Given the description of an element on the screen output the (x, y) to click on. 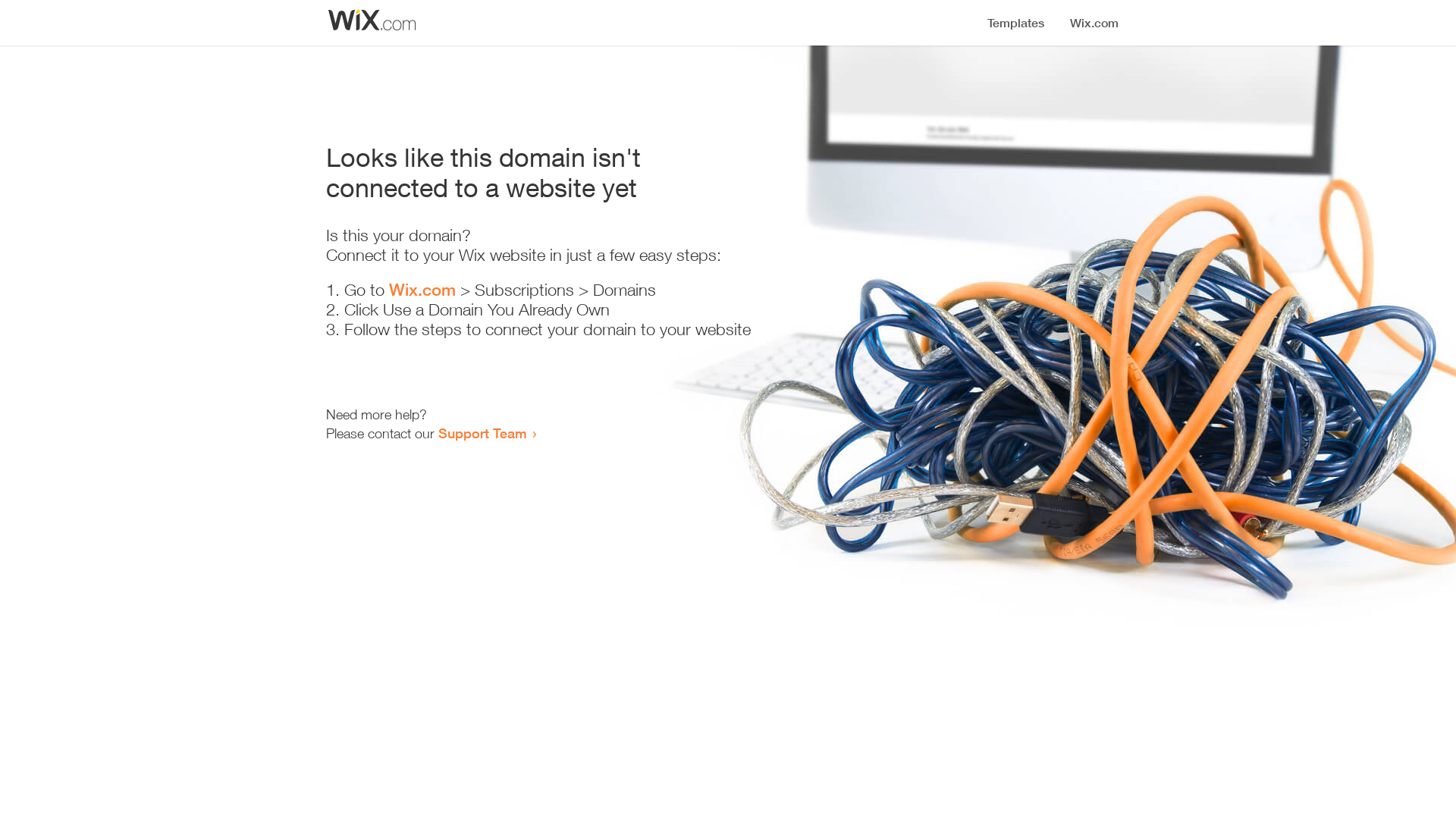
Wix.com Element type: text (422, 289)
Support Team Element type: text (482, 432)
